Given the description of an element on the screen output the (x, y) to click on. 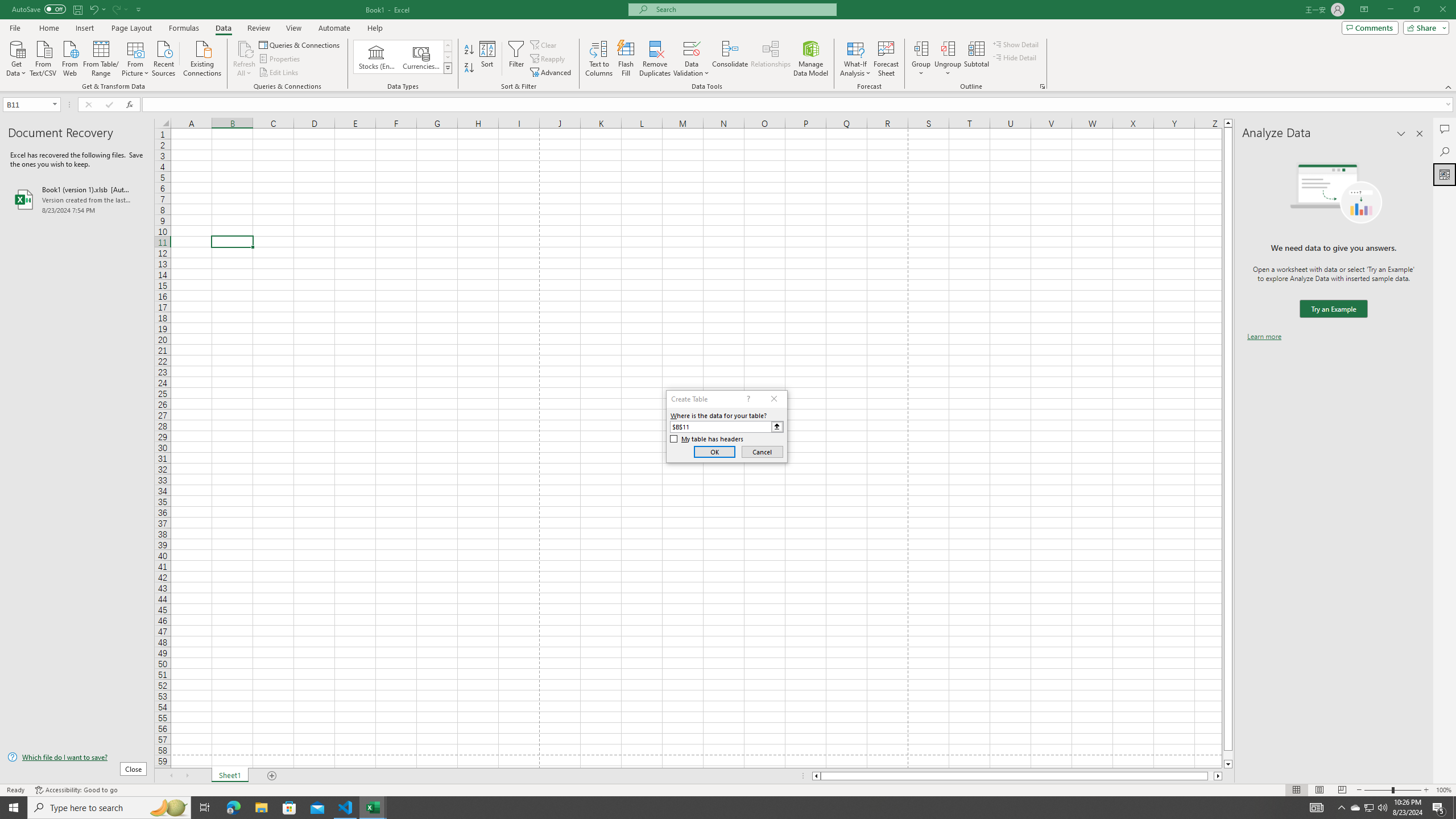
Consolidate... (729, 58)
